Given the description of an element on the screen output the (x, y) to click on. 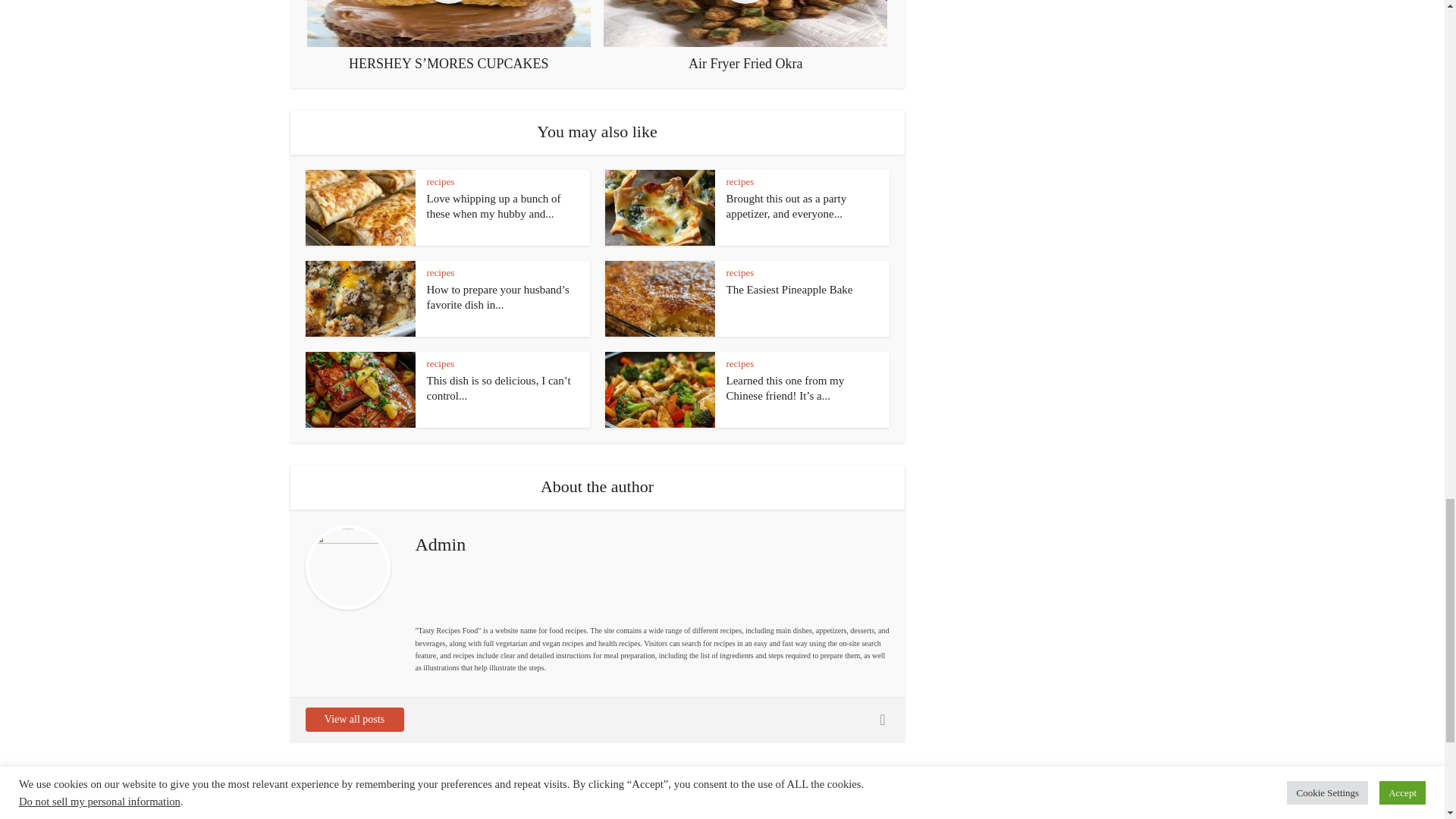
recipes (440, 272)
recipes (740, 181)
Love whipping up a bunch of these when my hubby and... (493, 206)
recipes (740, 272)
recipes (440, 181)
The Easiest Pineapple Bake (789, 289)
Brought this out as a party appetizer, and everyone... (786, 206)
The Easiest Pineapple Bake (789, 289)
Air Fryer Fried Okra (745, 36)
